Given the description of an element on the screen output the (x, y) to click on. 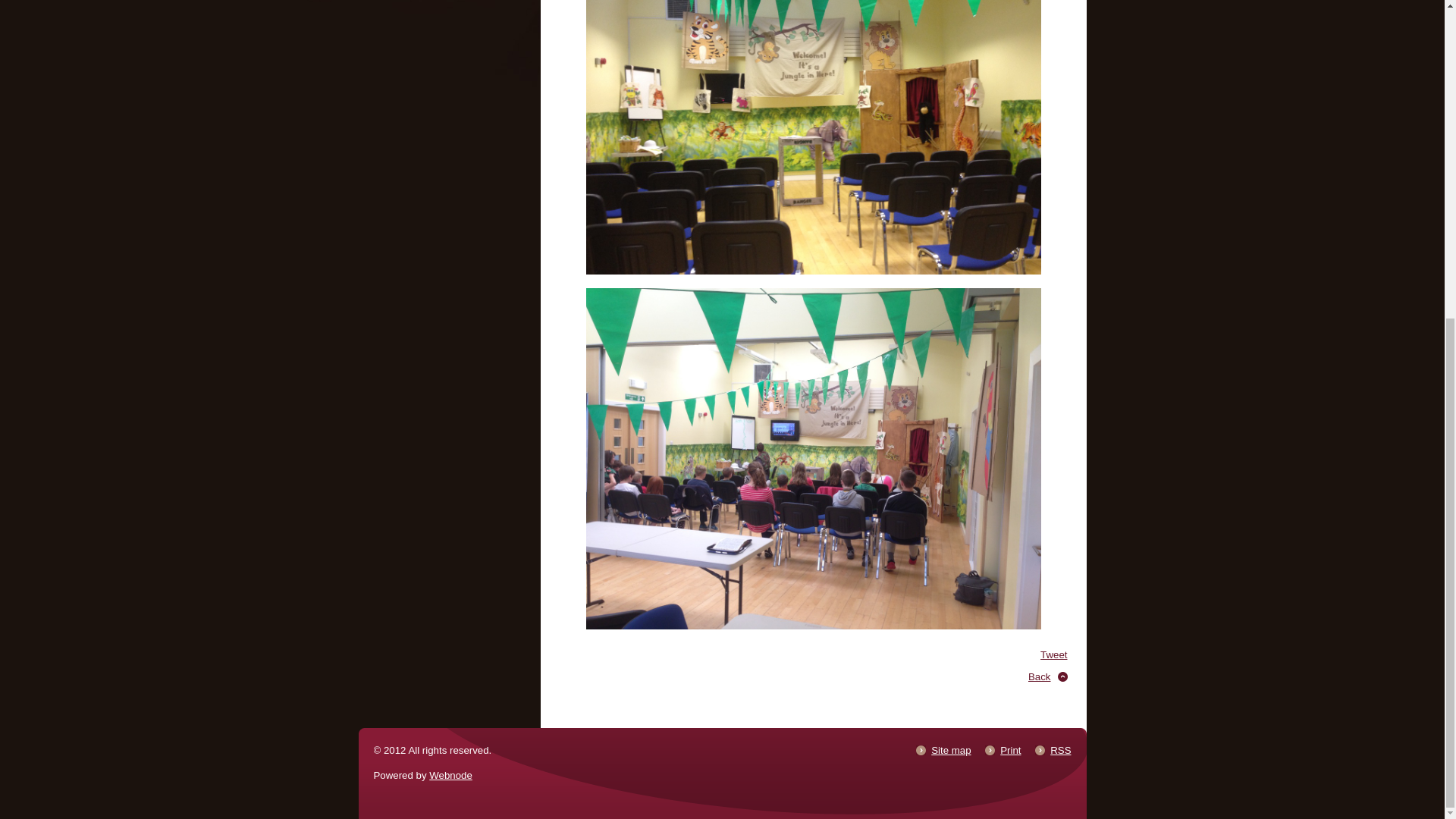
Go to site map. (951, 749)
Back (1039, 676)
Tweet (1054, 654)
Webnode (450, 775)
Print page (1010, 749)
RSS Feeds (1059, 749)
RSS (1059, 749)
Site map (951, 749)
Print (1010, 749)
